Given the description of an element on the screen output the (x, y) to click on. 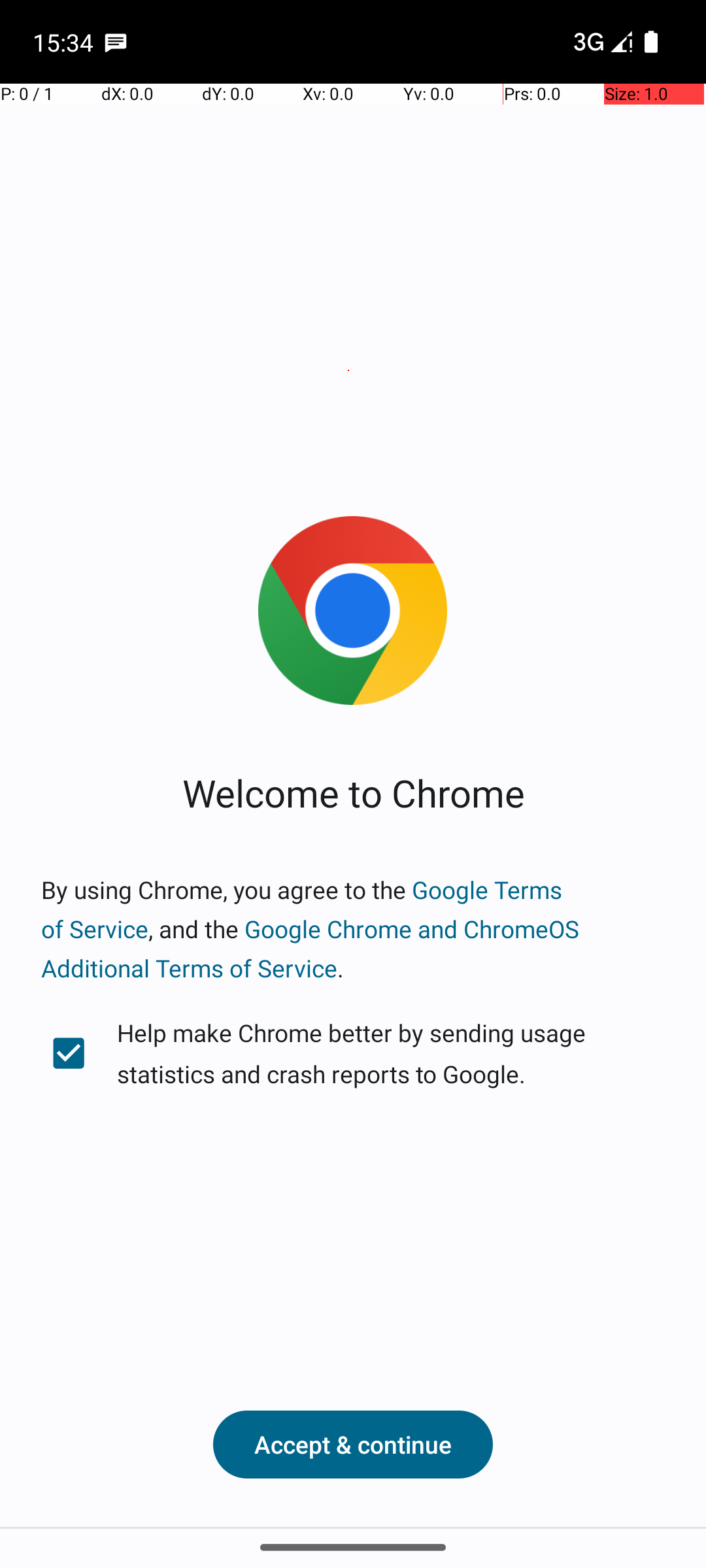
Accept & continue Element type: android.widget.Button (352, 1444)
Welcome to Chrome Element type: android.widget.TextView (352, 792)
By using Chrome, you agree to the Google Terms of Service, and the Google Chrome and ChromeOS Additional Terms of Service. Element type: android.widget.TextView (352, 928)
Help make Chrome better by sending usage statistics and crash reports to Google. Element type: android.widget.CheckBox (352, 1053)
SMS Messenger notification: +10214033213 Element type: android.widget.ImageView (115, 41)
